Given the description of an element on the screen output the (x, y) to click on. 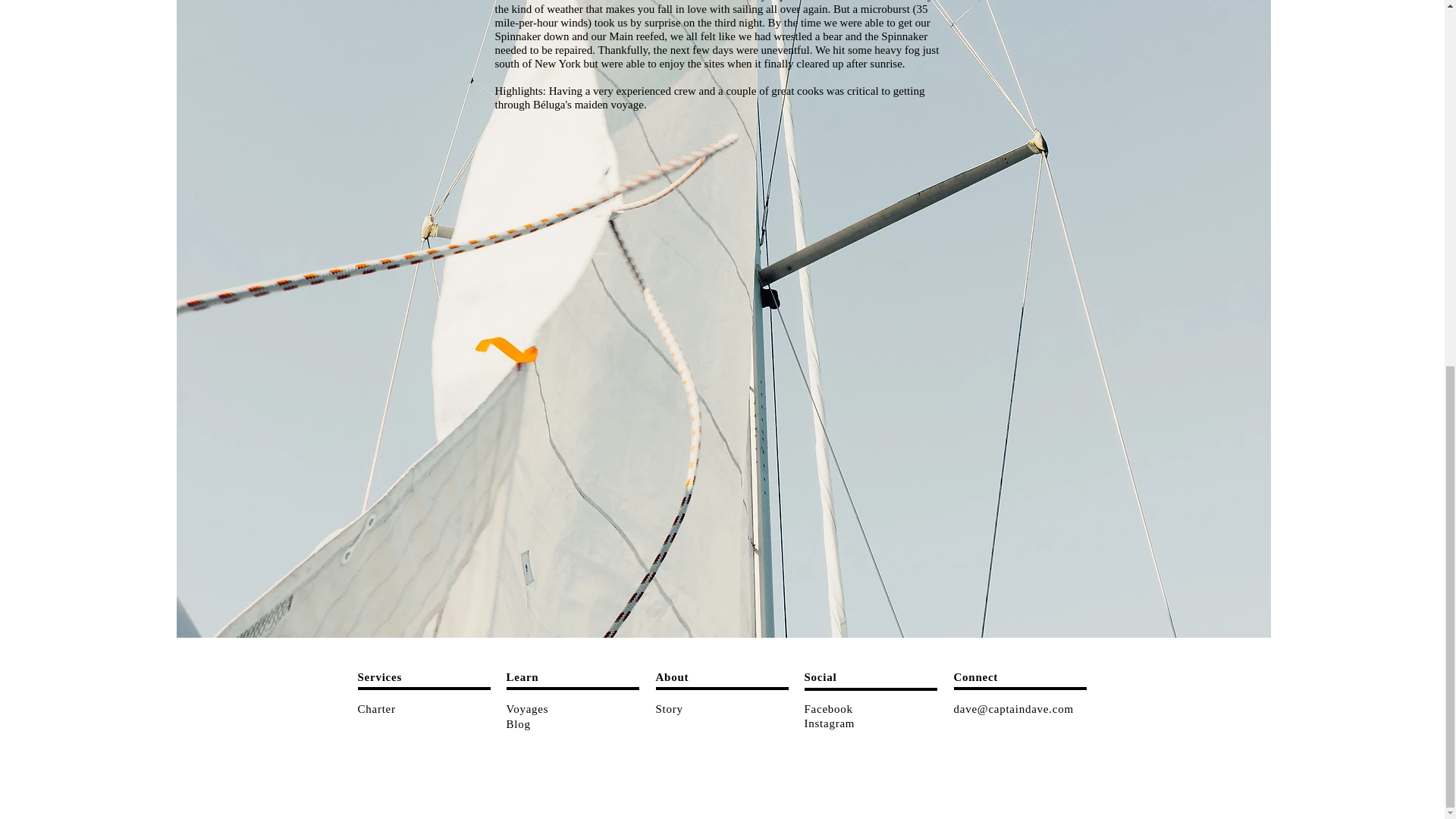
Story (668, 707)
Charter (377, 707)
Facebook (827, 707)
Instagram (828, 722)
Blog (518, 723)
Voyages (527, 707)
